Given the description of an element on the screen output the (x, y) to click on. 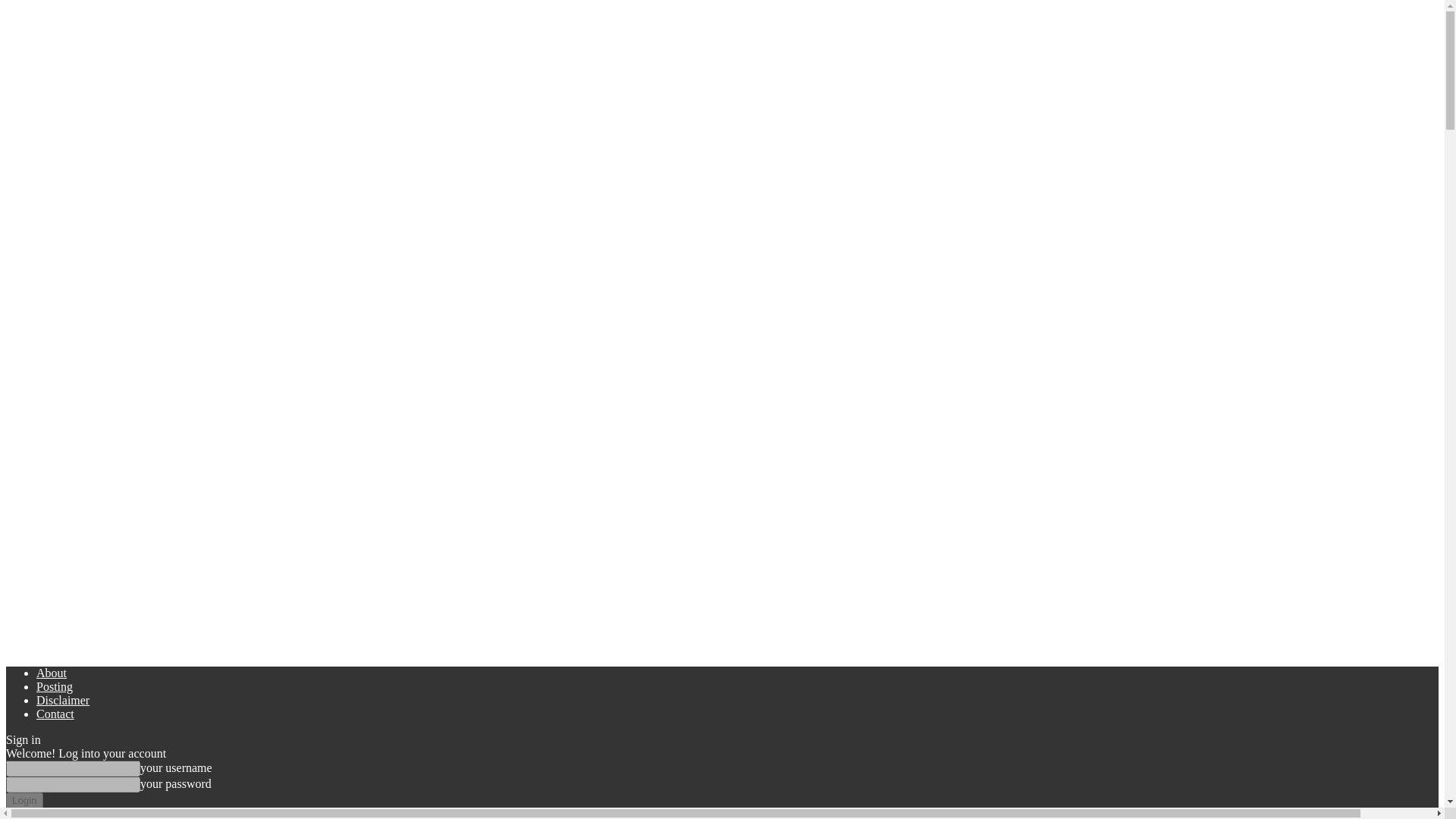
Login (24, 800)
